Given the description of an element on the screen output the (x, y) to click on. 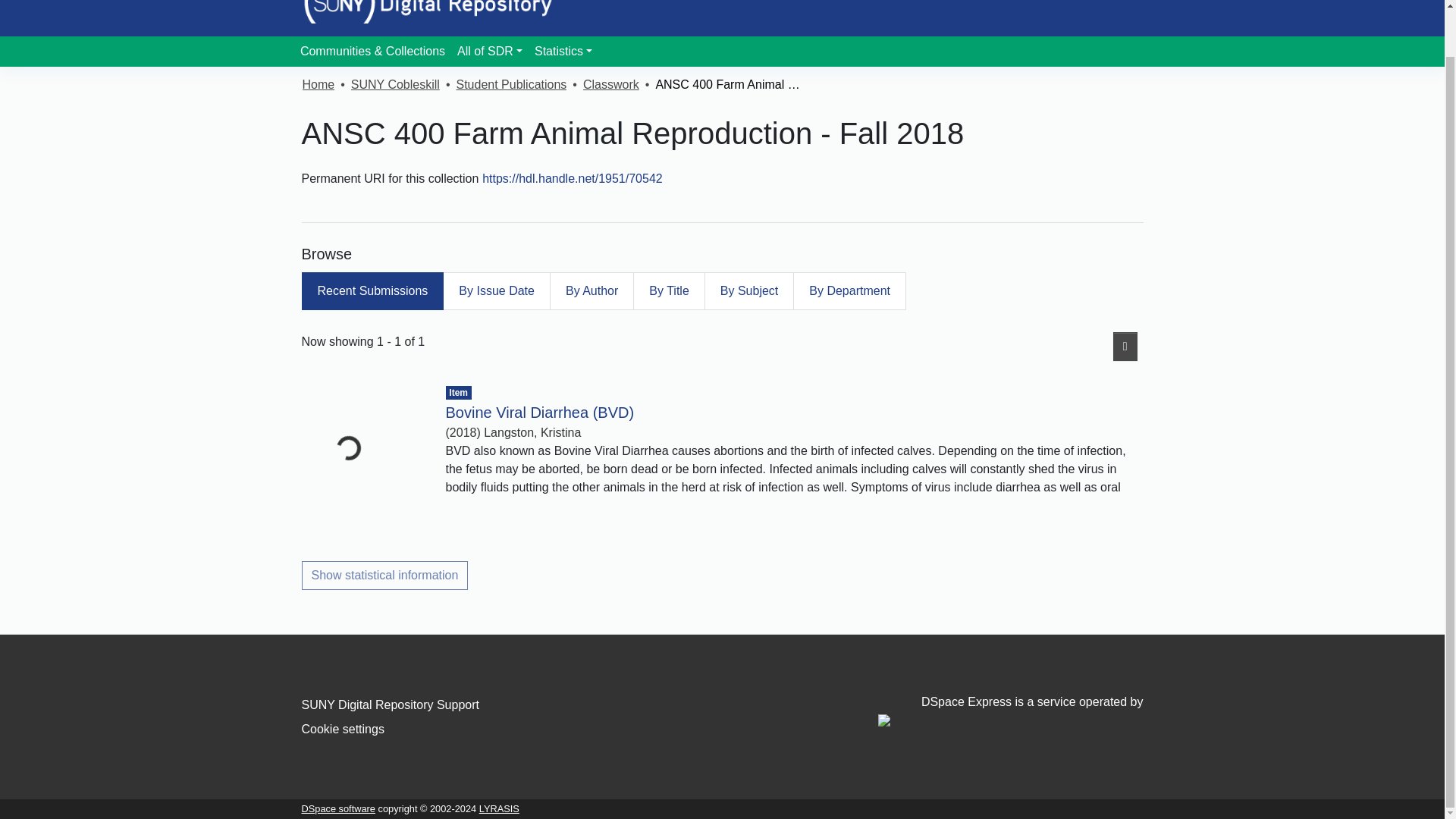
SUNY Digital Repository Support (390, 704)
Search (1072, 1)
Statistics (563, 51)
Home (317, 85)
By Issue Date (496, 290)
Show statistical information (384, 575)
By Subject (748, 290)
LYRASIS (499, 808)
Student Publications (510, 85)
Classwork (611, 85)
